Given the description of an element on the screen output the (x, y) to click on. 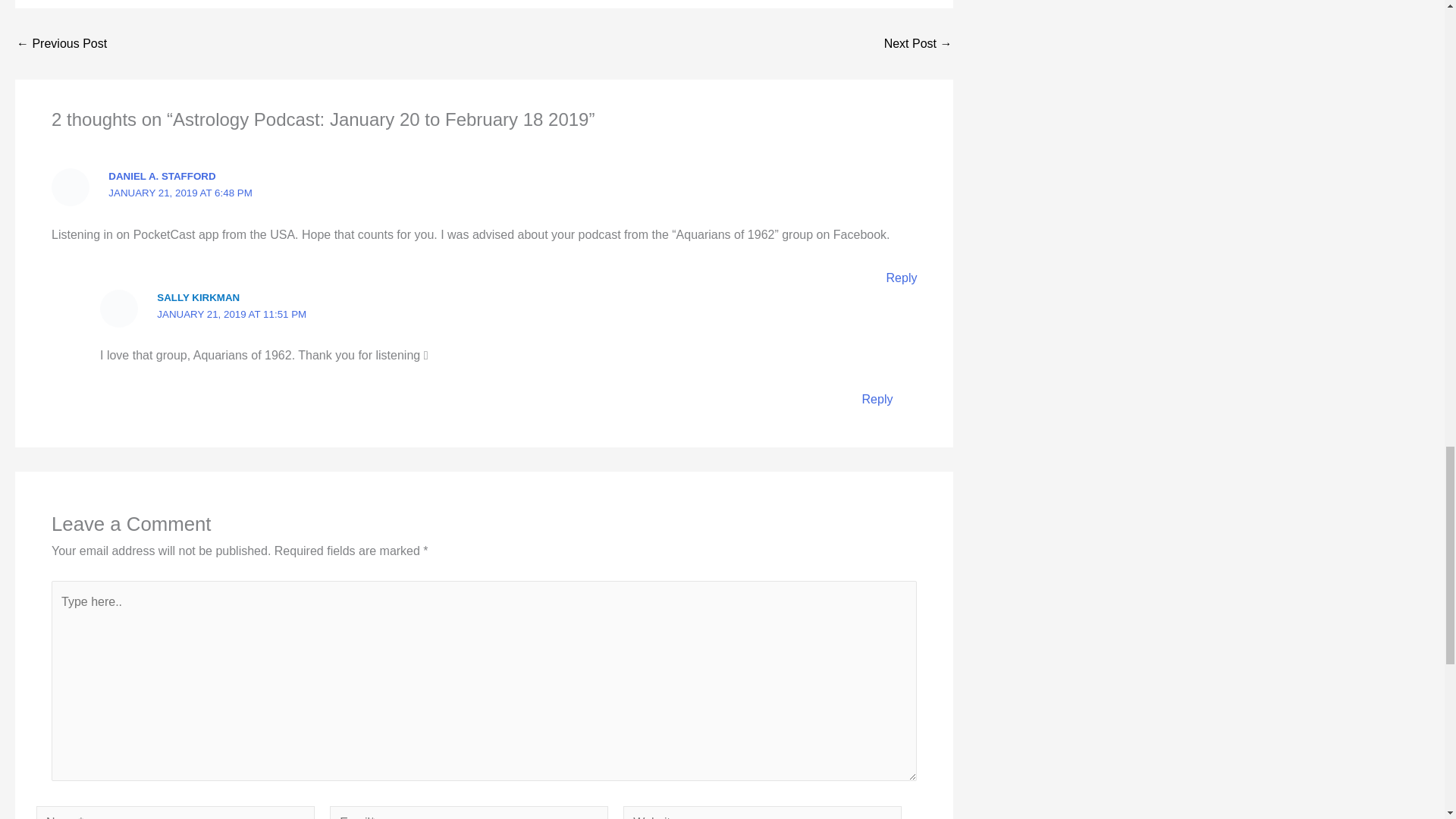
Blood Moon Eclipse (61, 43)
Venus conjunct Jupiter: Love And Luck (917, 43)
